Given the description of an element on the screen output the (x, y) to click on. 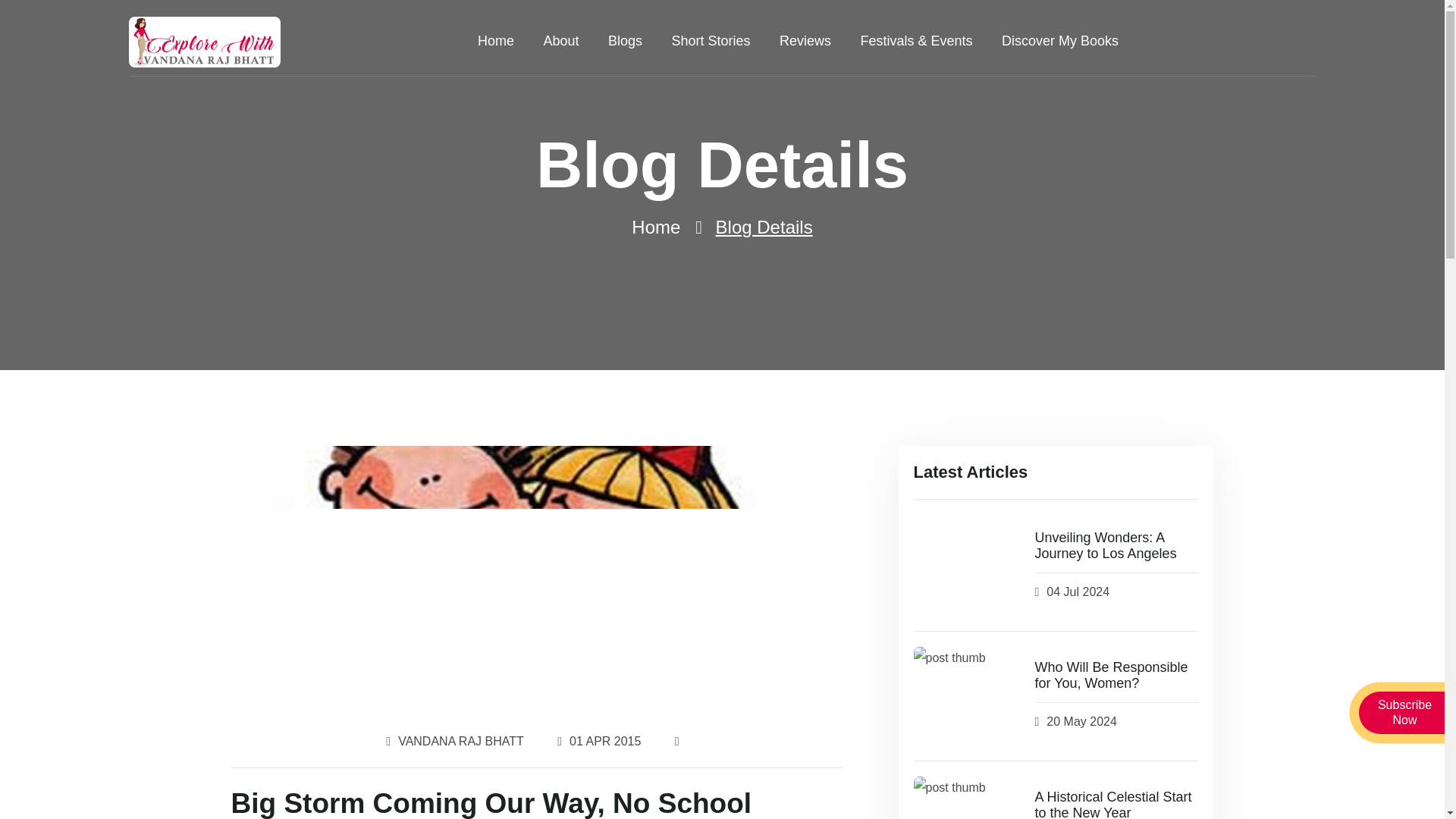
Who Will Be Responsible for You, Women? (1115, 676)
VANDANA RAJ BHATT (460, 741)
Short Stories (710, 42)
20 May 2024 (1081, 722)
Big Storm Coming Our Way, No School Today!!! (535, 803)
04 Jul 2024 (1077, 592)
01 APR 2015 (604, 741)
Home (655, 227)
Unveiling Wonders: A Journey to Los Angeles (1115, 545)
Discover My Books (1059, 42)
A Historical Celestial Start to the New Year (1115, 804)
